Given the description of an element on the screen output the (x, y) to click on. 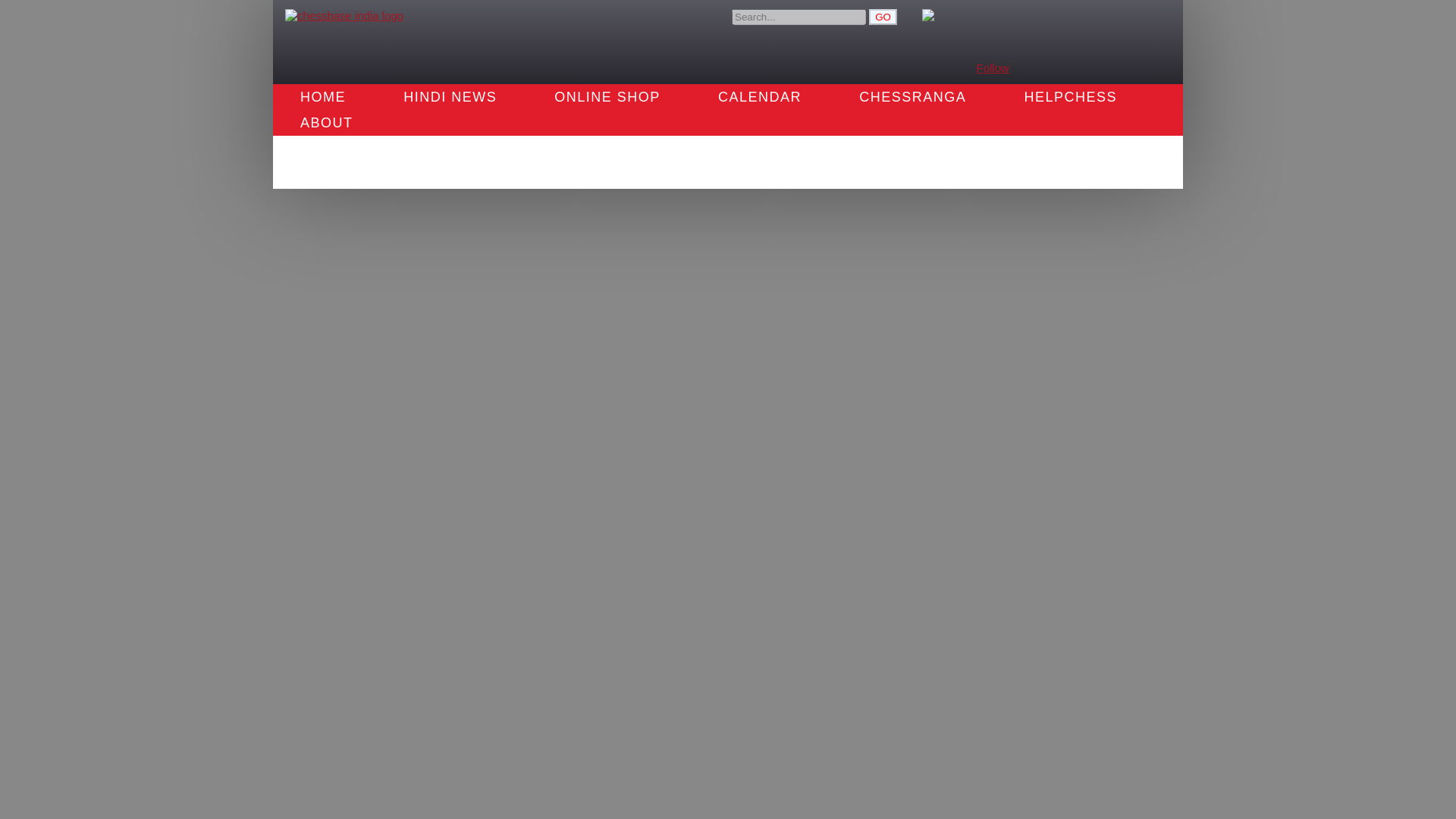
ABOUT (326, 122)
HOME (322, 96)
GO (882, 17)
CALENDAR (759, 96)
Follow (992, 67)
GO (882, 17)
ONLINE SHOP (607, 96)
CHESSRANGA (911, 96)
HINDI NEWS (449, 96)
HELPCHESS (1069, 96)
